Given the description of an element on the screen output the (x, y) to click on. 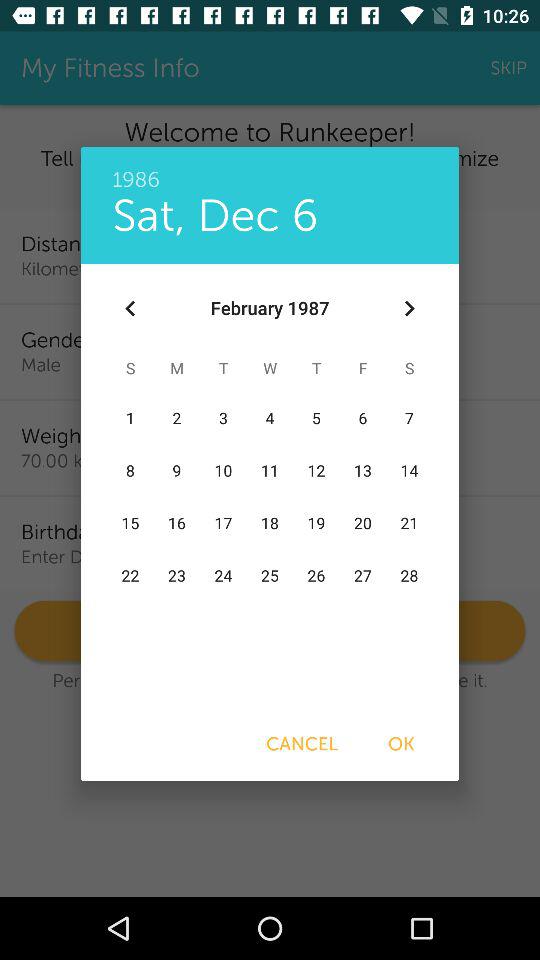
press item next to the cancel icon (401, 743)
